Given the description of an element on the screen output the (x, y) to click on. 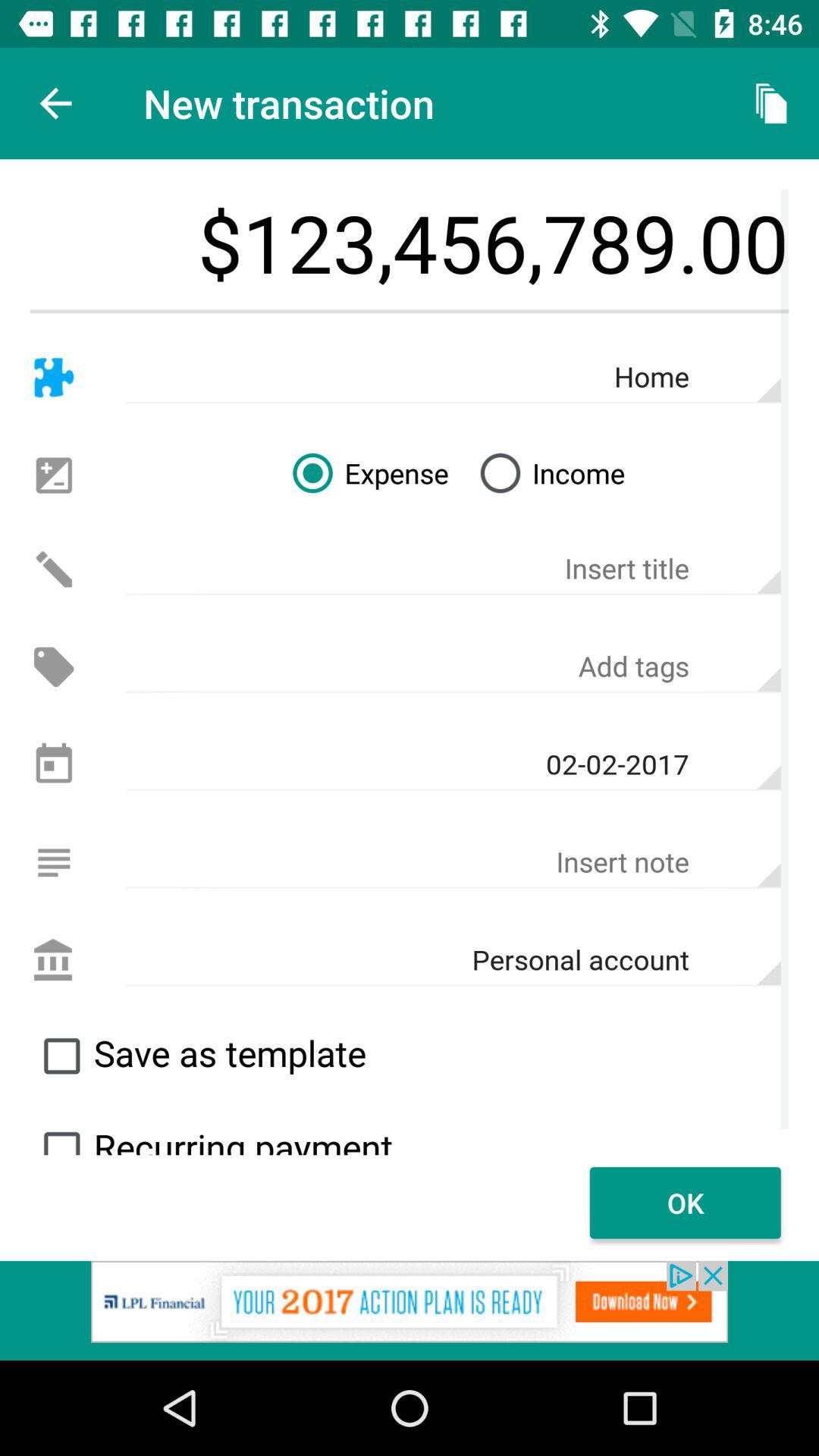
advertisement (409, 1310)
